Given the description of an element on the screen output the (x, y) to click on. 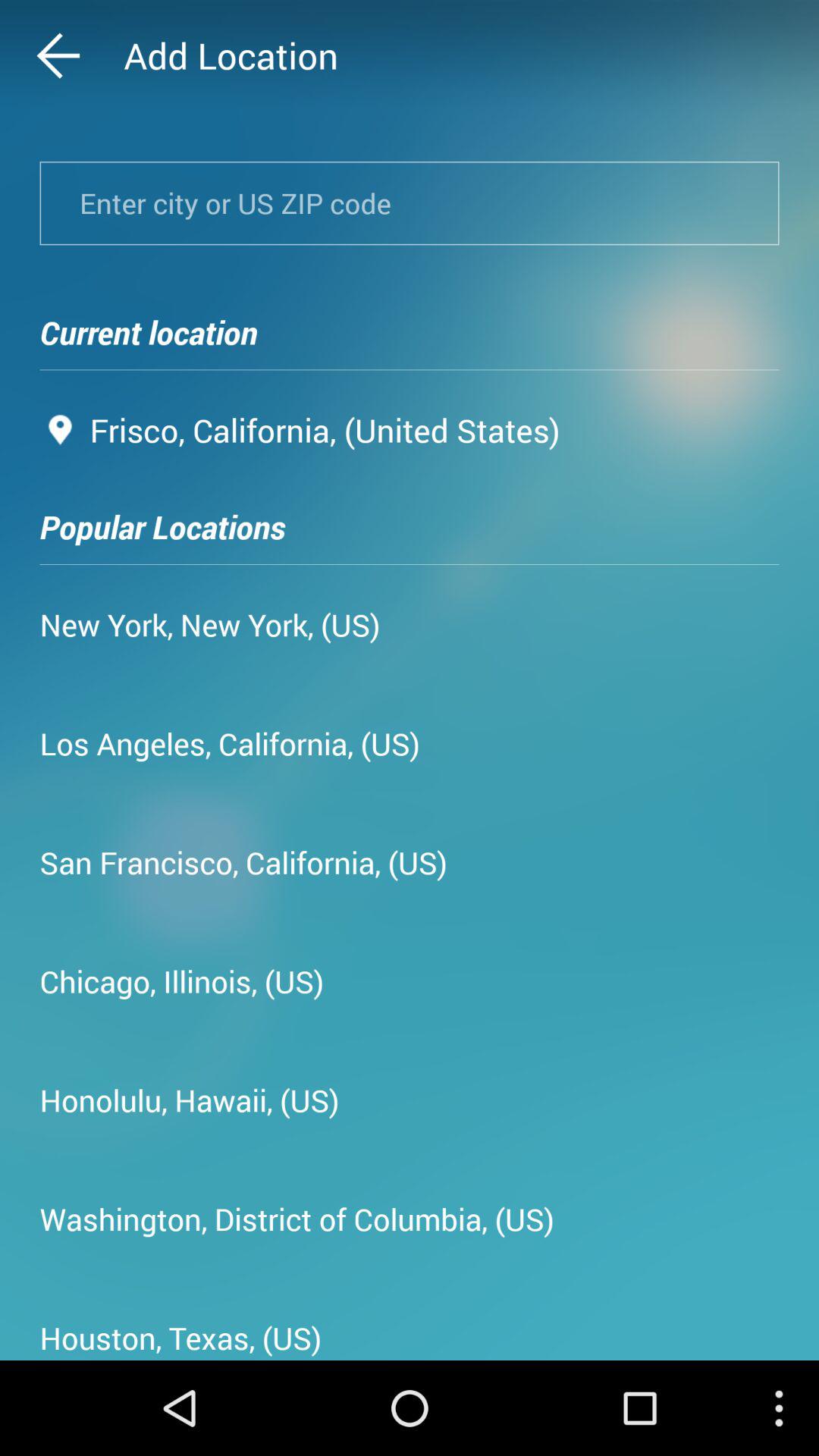
tap the houston, texas, (us) app (180, 1332)
